Given the description of an element on the screen output the (x, y) to click on. 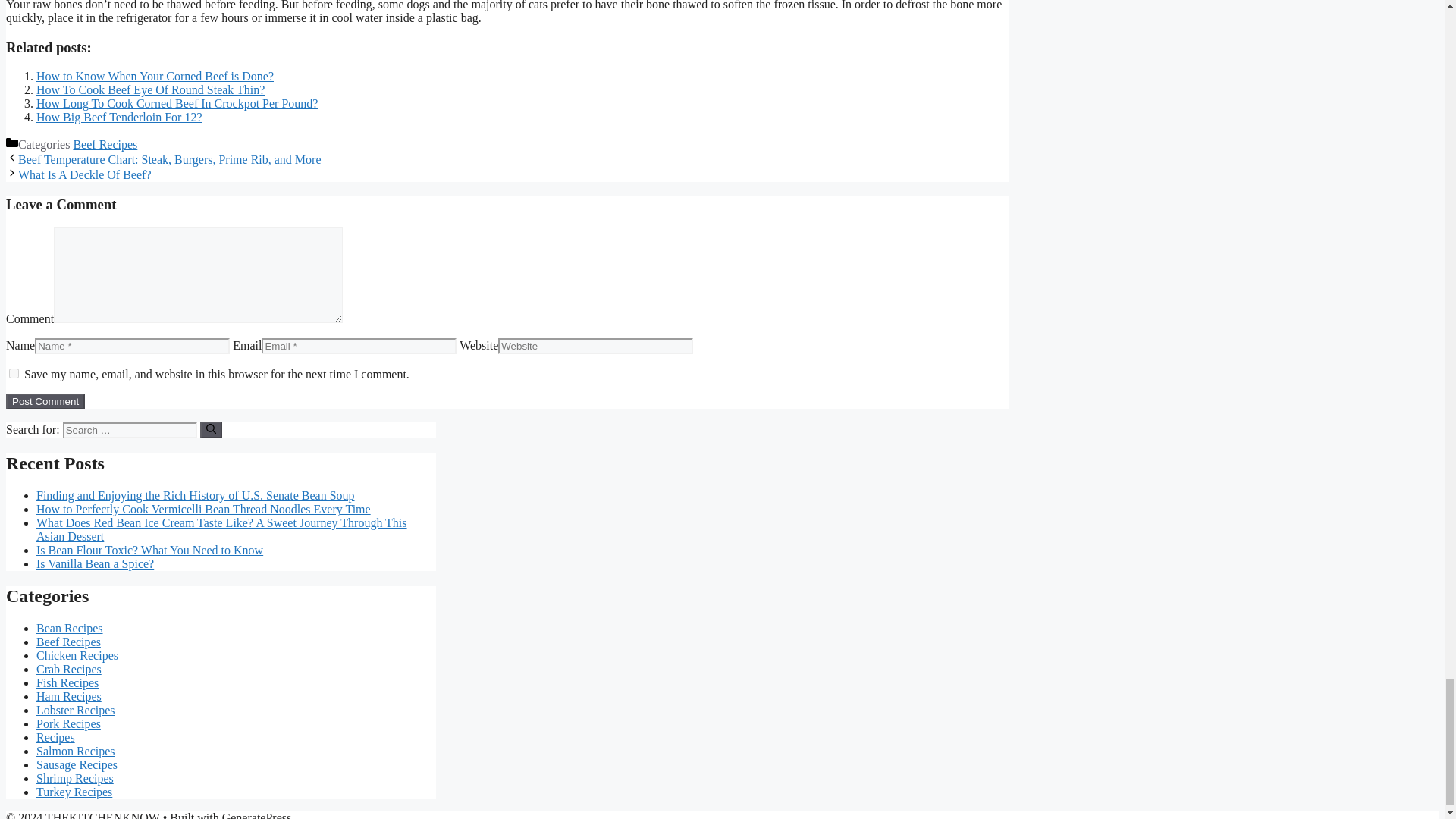
Post Comment (44, 401)
Search for: (129, 430)
Fish Recipes (67, 682)
Recipes (55, 737)
How Long To Cook Corned Beef In Crockpot Per Pound? (176, 103)
Chicken Recipes (76, 655)
Beef Temperature Chart: Steak, Burgers, Prime Rib, and More (169, 159)
Is Vanilla Bean a Spice? (95, 563)
How To Cook Beef Eye Of Round Steak Thin? (150, 89)
Beef Recipes (68, 641)
